Given the description of an element on the screen output the (x, y) to click on. 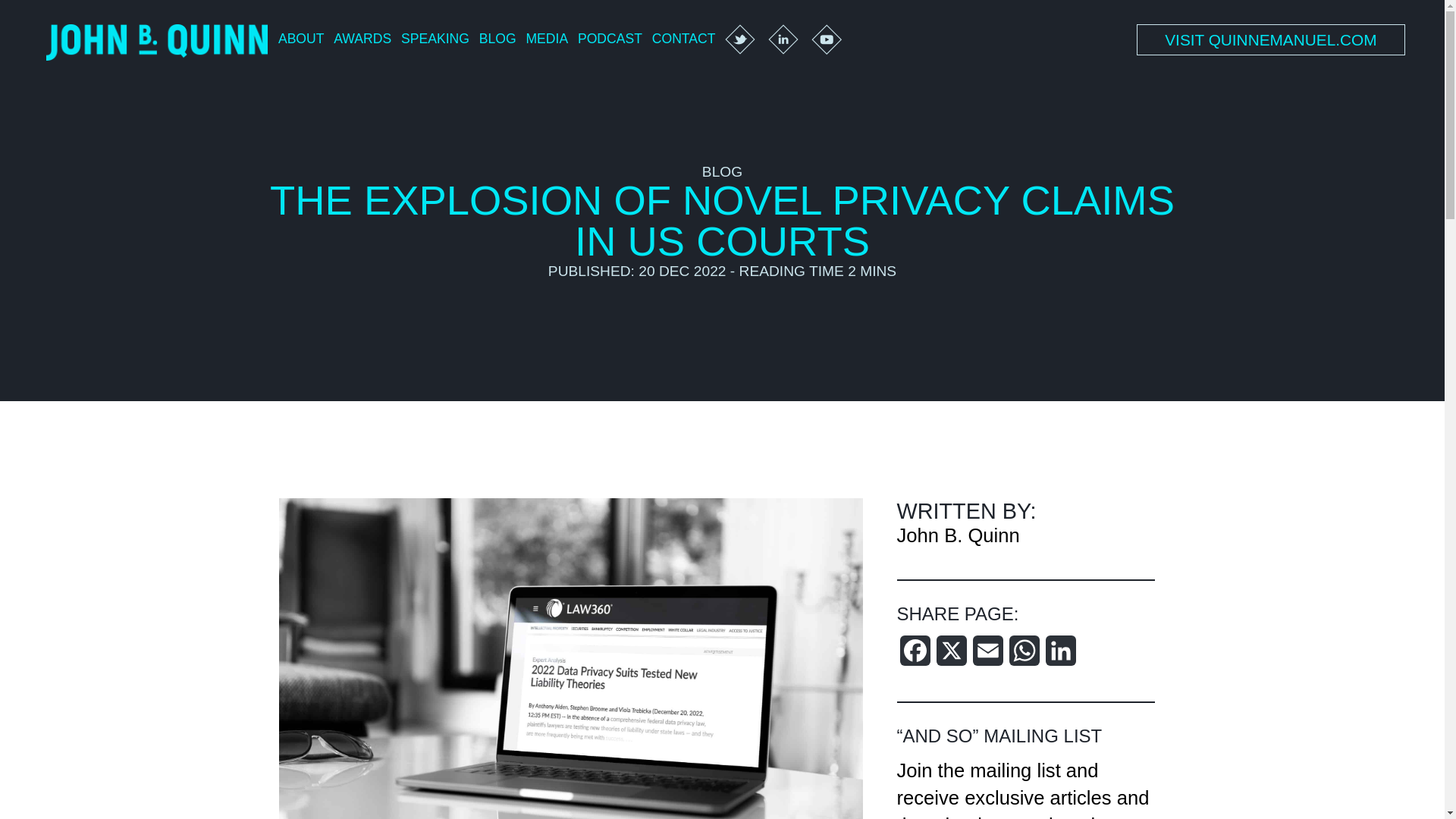
WhatsApp (1024, 656)
Email (987, 656)
SPEAKING (434, 40)
BLOG (497, 40)
LinkedIn (1060, 656)
MEDIA (546, 40)
PODCAST (610, 40)
Facebook (914, 656)
CONTACT (684, 40)
Email (987, 656)
AWARDS (362, 40)
VISIT QUINNEMANUEL.COM (1271, 41)
X (951, 656)
VISIT QUINNEMANUEL.COM (1271, 39)
WhatsApp (1024, 656)
